Given the description of an element on the screen output the (x, y) to click on. 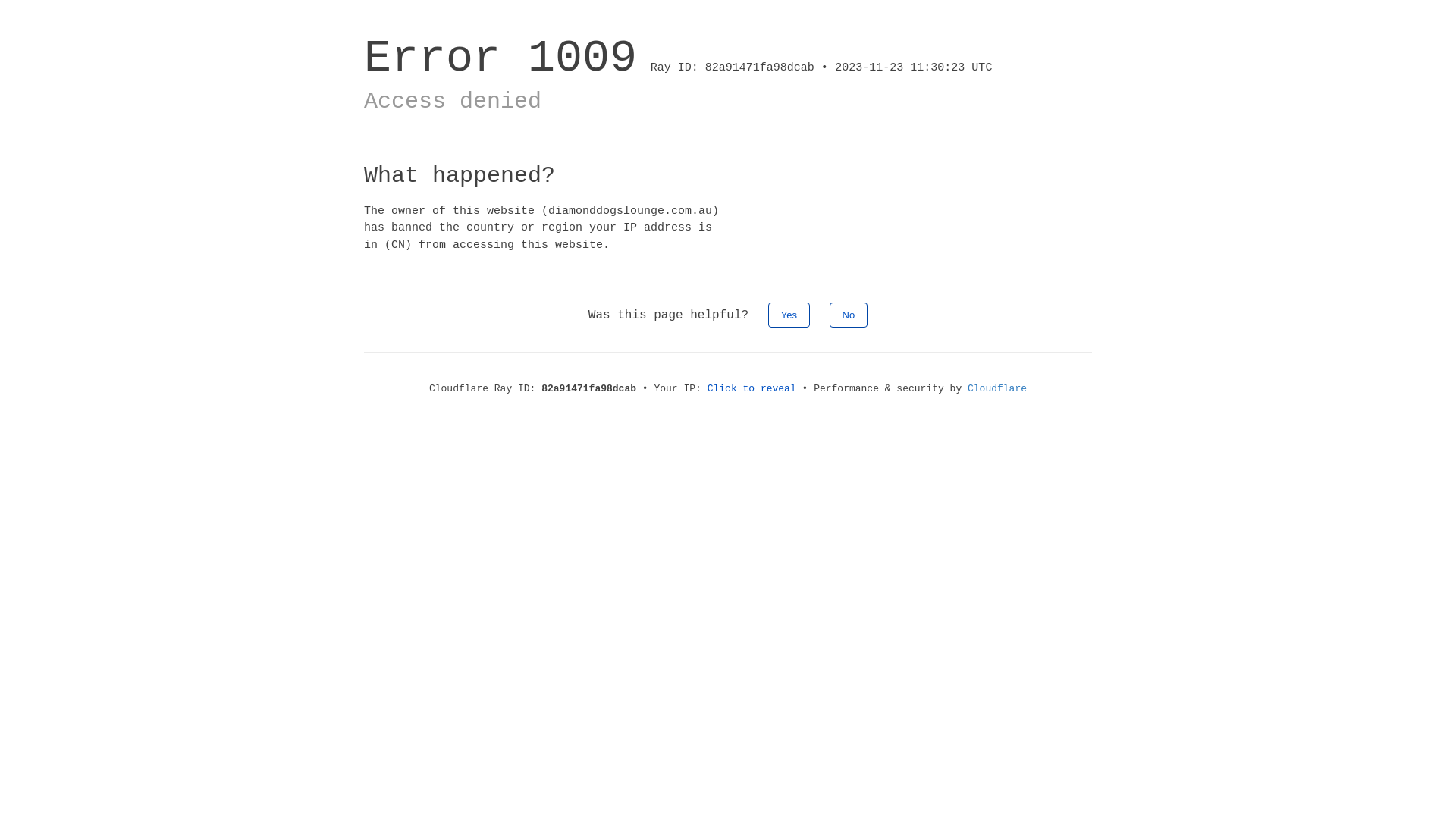
Cloudflare Element type: text (996, 388)
Click to reveal Element type: text (751, 388)
No Element type: text (848, 314)
Yes Element type: text (788, 314)
